Given the description of an element on the screen output the (x, y) to click on. 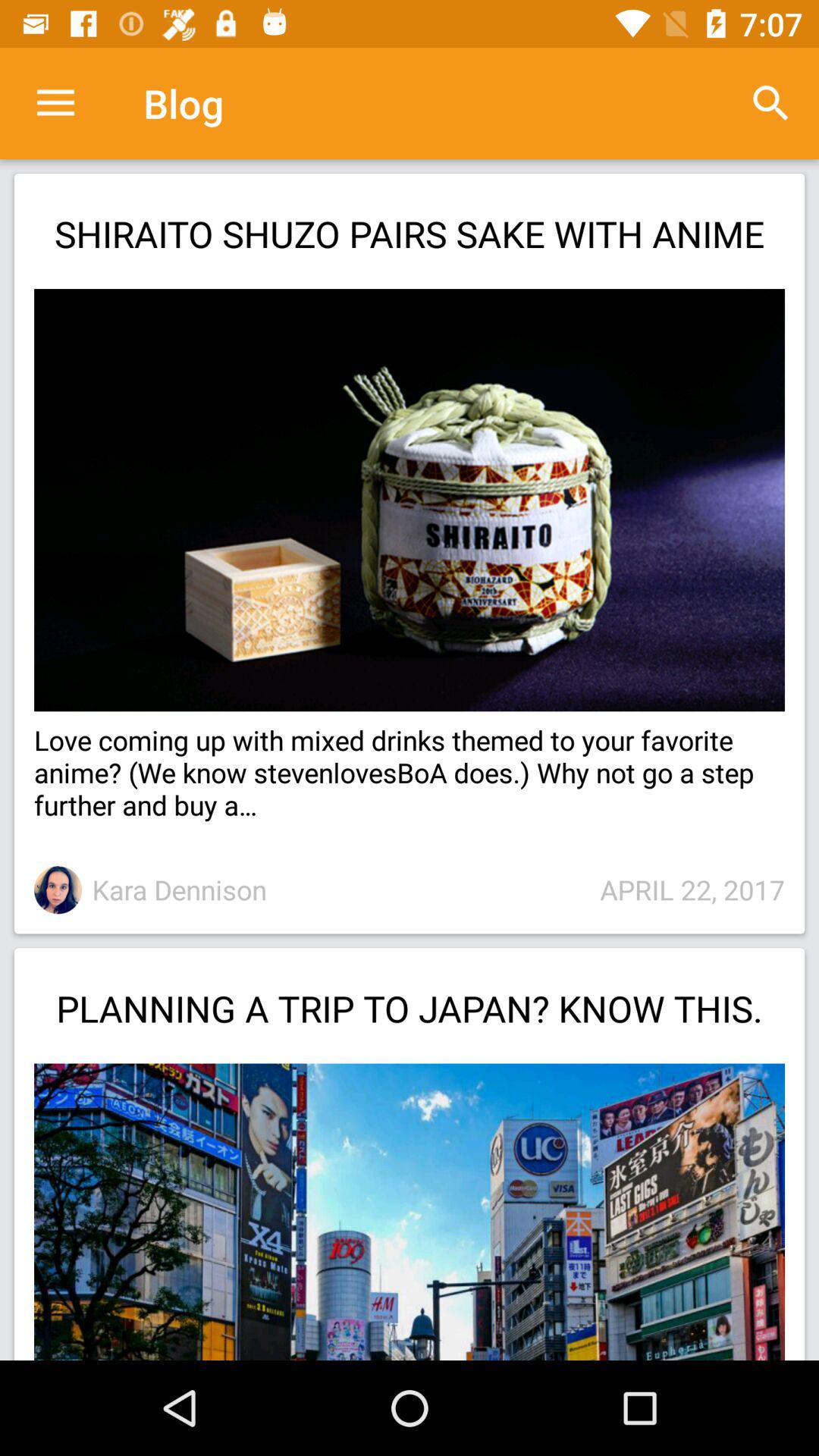
press the item next to the blog (771, 103)
